Given the description of an element on the screen output the (x, y) to click on. 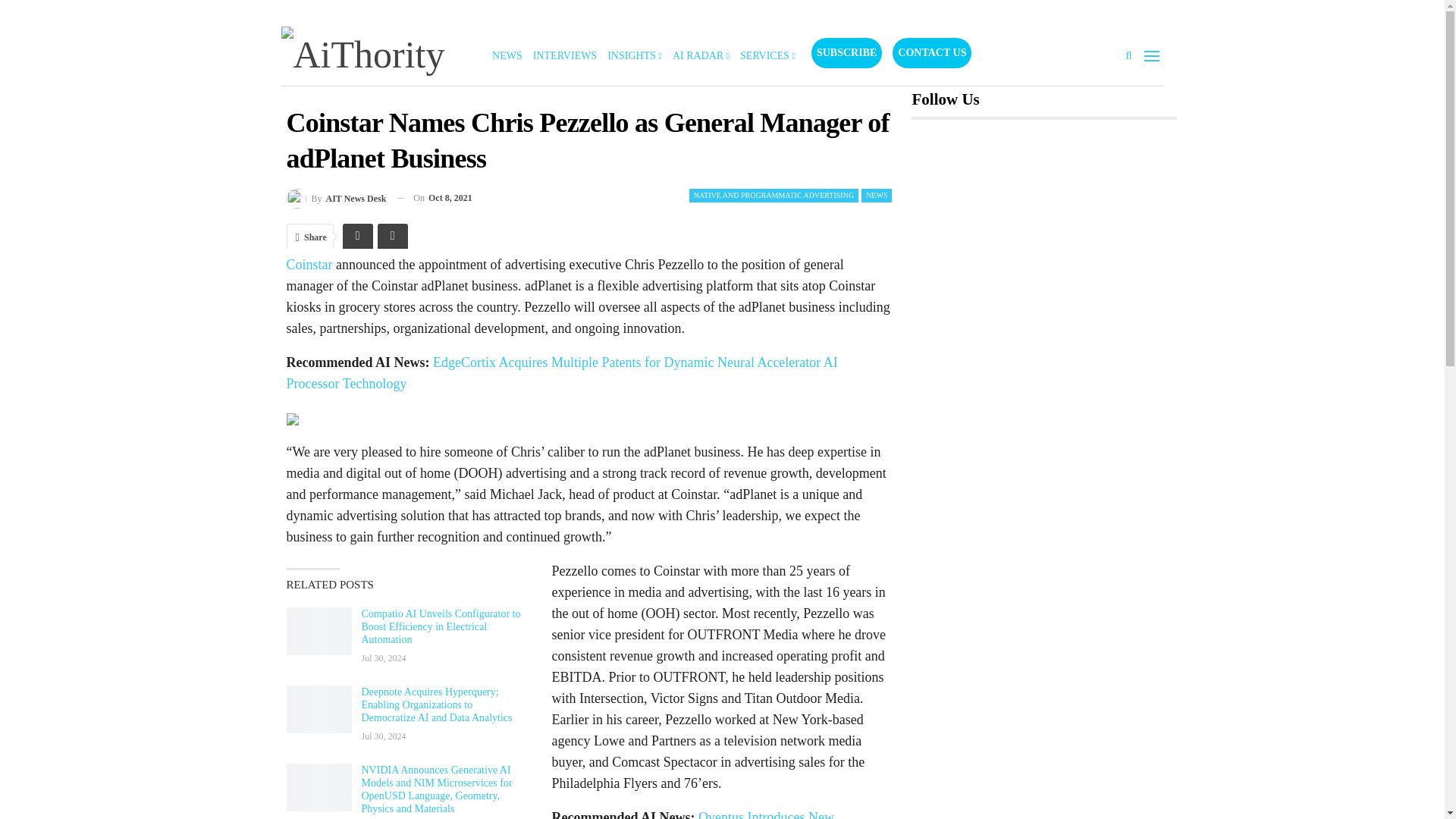
SERVICES (767, 55)
AI RADAR (700, 55)
NATIVE AND PROGRAMMATIC ADVERTISING (773, 195)
CONTACT US (931, 52)
Coinstar (309, 264)
NEWS (876, 195)
Browse Author Articles (336, 198)
INTERVIEWS (564, 55)
By AIT News Desk (336, 198)
